Given the description of an element on the screen output the (x, y) to click on. 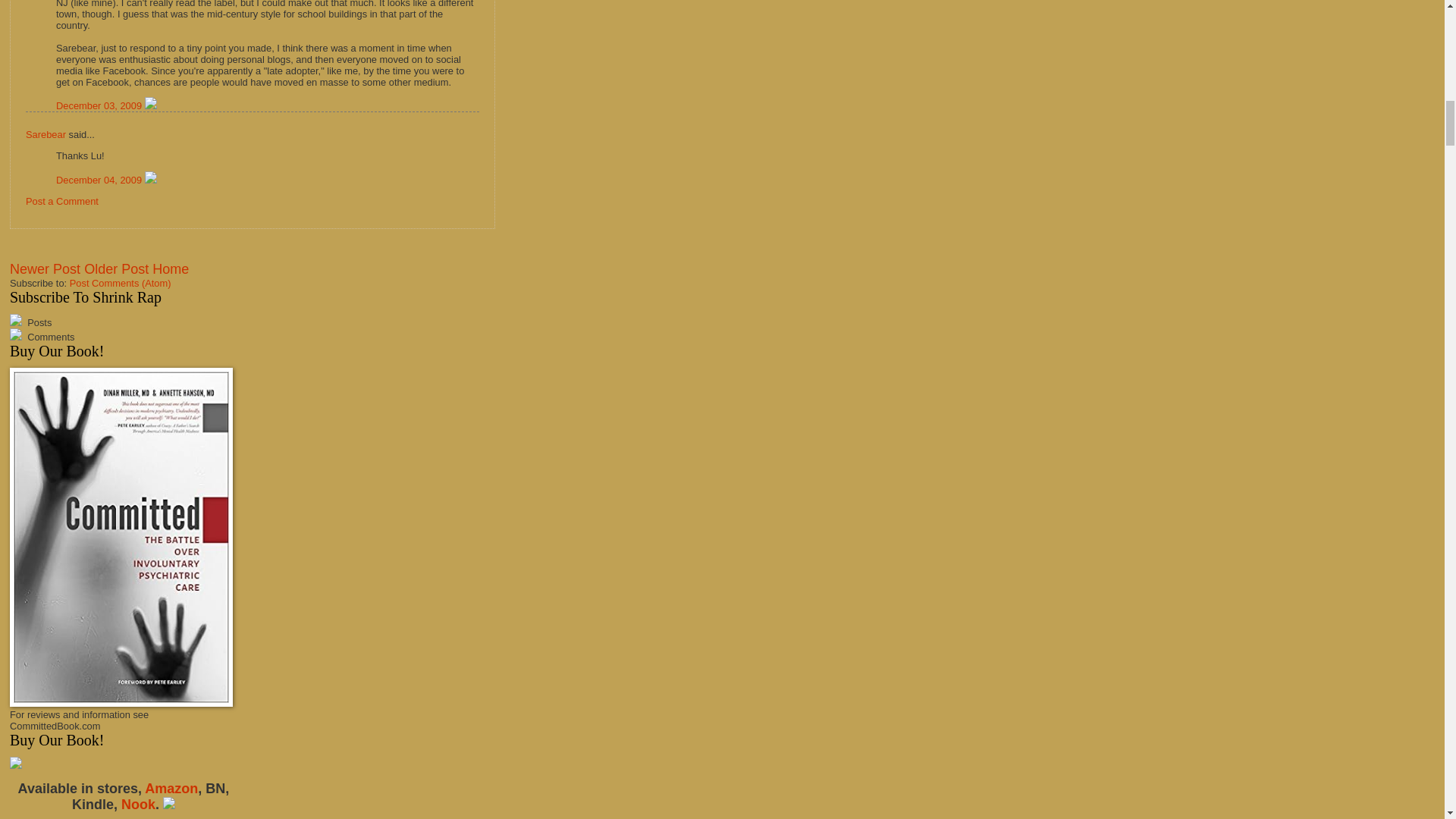
December 03, 2009 (100, 105)
December 04, 2009 (100, 179)
Delete Comment (150, 105)
Sarebear (45, 134)
Home (170, 268)
comment permalink (100, 105)
Older Post (116, 268)
Amazon (171, 788)
Post a Comment (62, 201)
Newer Post (45, 268)
